Given the description of an element on the screen output the (x, y) to click on. 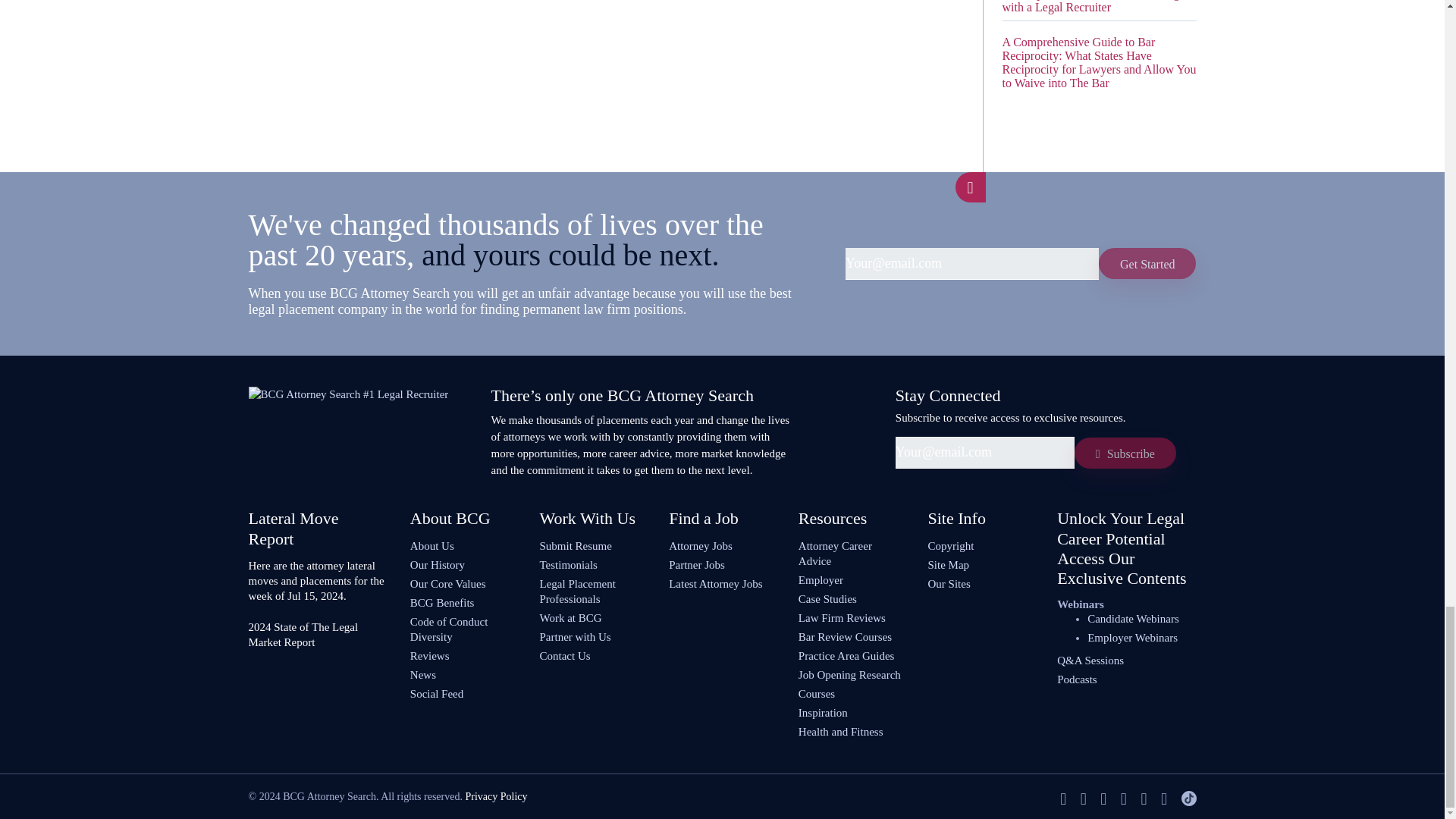
BCG Attorney Search Youtube (1123, 798)
BCG Attorney Search Twitter (1083, 798)
BCG Attorney Search Instagram (1163, 798)
BCG Attorney Search Linkedin (1103, 798)
BCG Attorney Search Pinterest (1143, 798)
BCG Attorney Search Facebook (1062, 798)
BCG Attorney Search Tiktok (1188, 798)
